Given the description of an element on the screen output the (x, y) to click on. 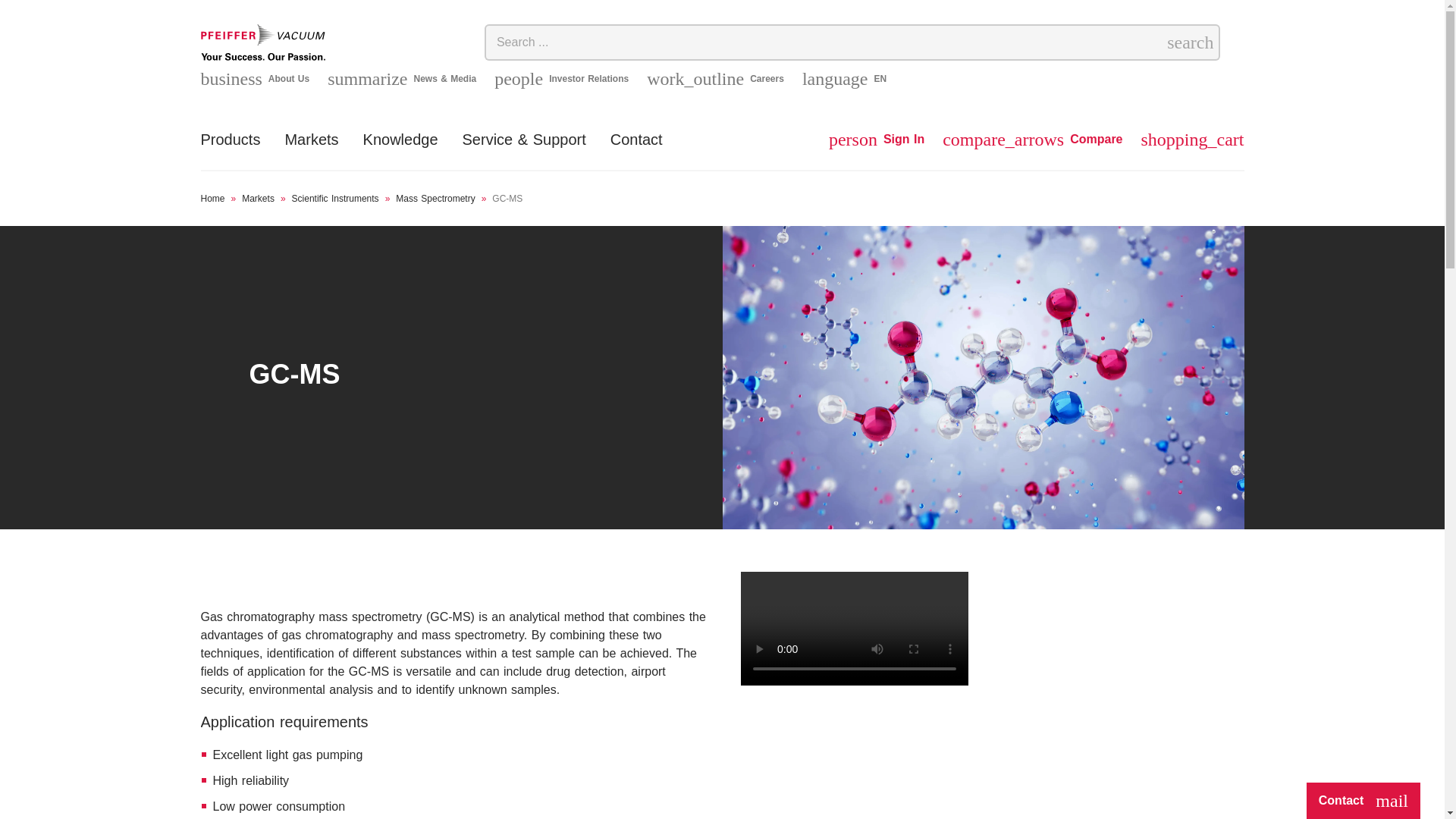
Markets (258, 198)
Contact (636, 148)
Knowledge (876, 139)
Mass Spectrometry (400, 148)
Scientific Instruments (435, 198)
Markets (335, 198)
Products (254, 78)
